Given the description of an element on the screen output the (x, y) to click on. 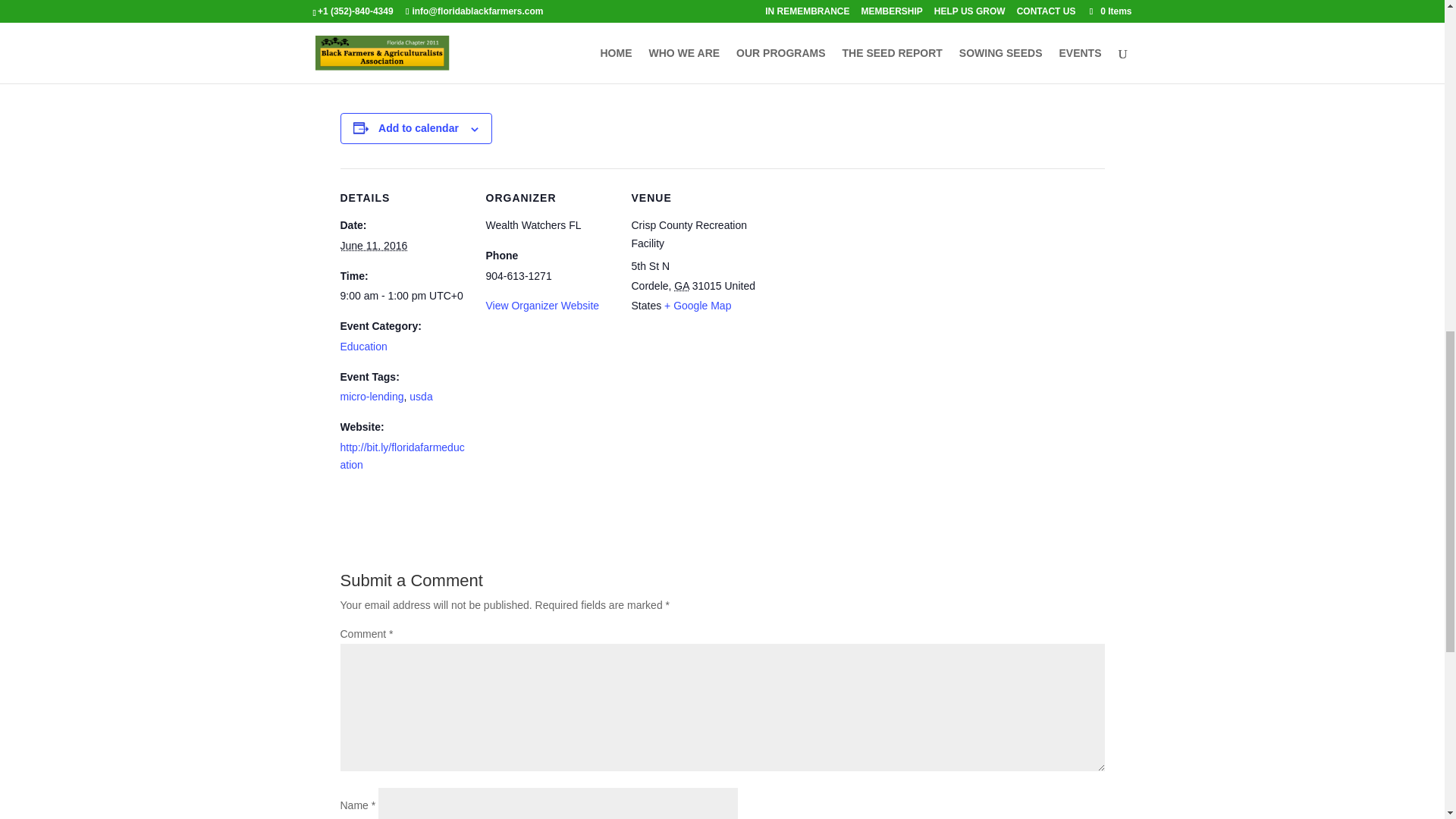
micro-lending (371, 396)
Click to view a Google Map (696, 305)
2016-06-11 (403, 296)
Georgia (681, 285)
2016-06-11 (373, 245)
Add to calendar (418, 128)
usda (420, 396)
View Organizer Website (541, 305)
Education (363, 346)
